Given the description of an element on the screen output the (x, y) to click on. 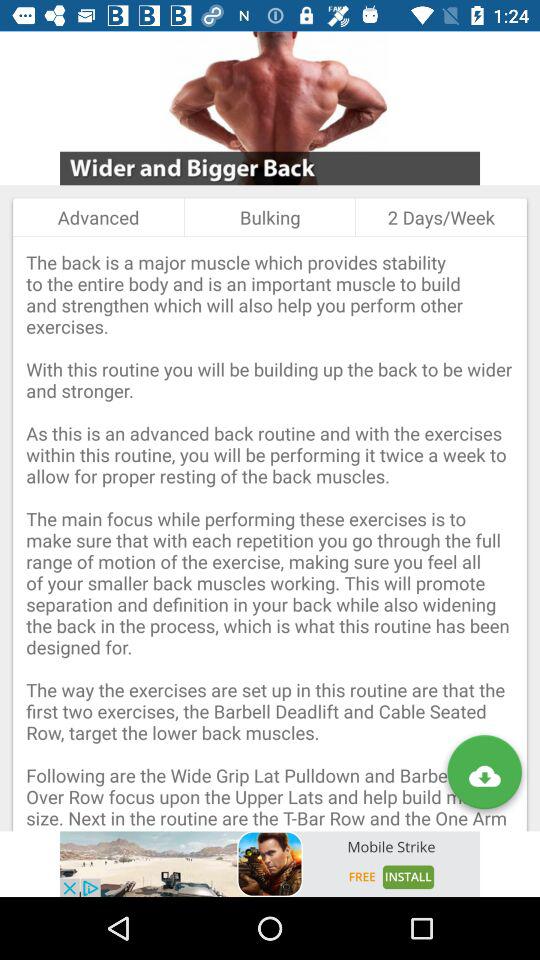
download the information to cloud (484, 775)
